Given the description of an element on the screen output the (x, y) to click on. 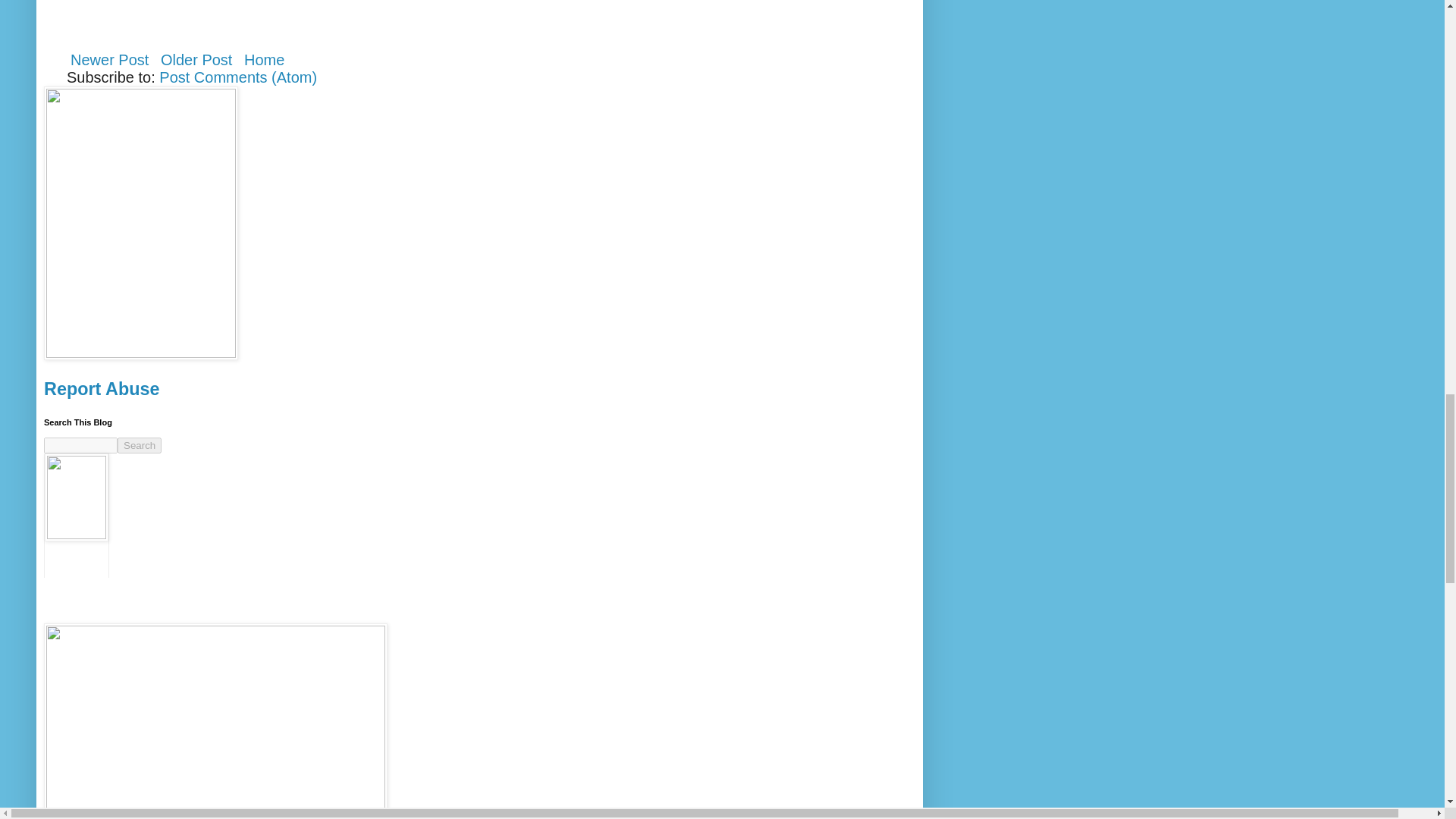
Newer Post (109, 59)
Older Post (196, 59)
Report Abuse (100, 388)
Search (139, 445)
Search (139, 445)
Search (139, 445)
Home (264, 59)
search (139, 445)
search (80, 445)
Newer Post (109, 59)
Older Post (196, 59)
